Given the description of an element on the screen output the (x, y) to click on. 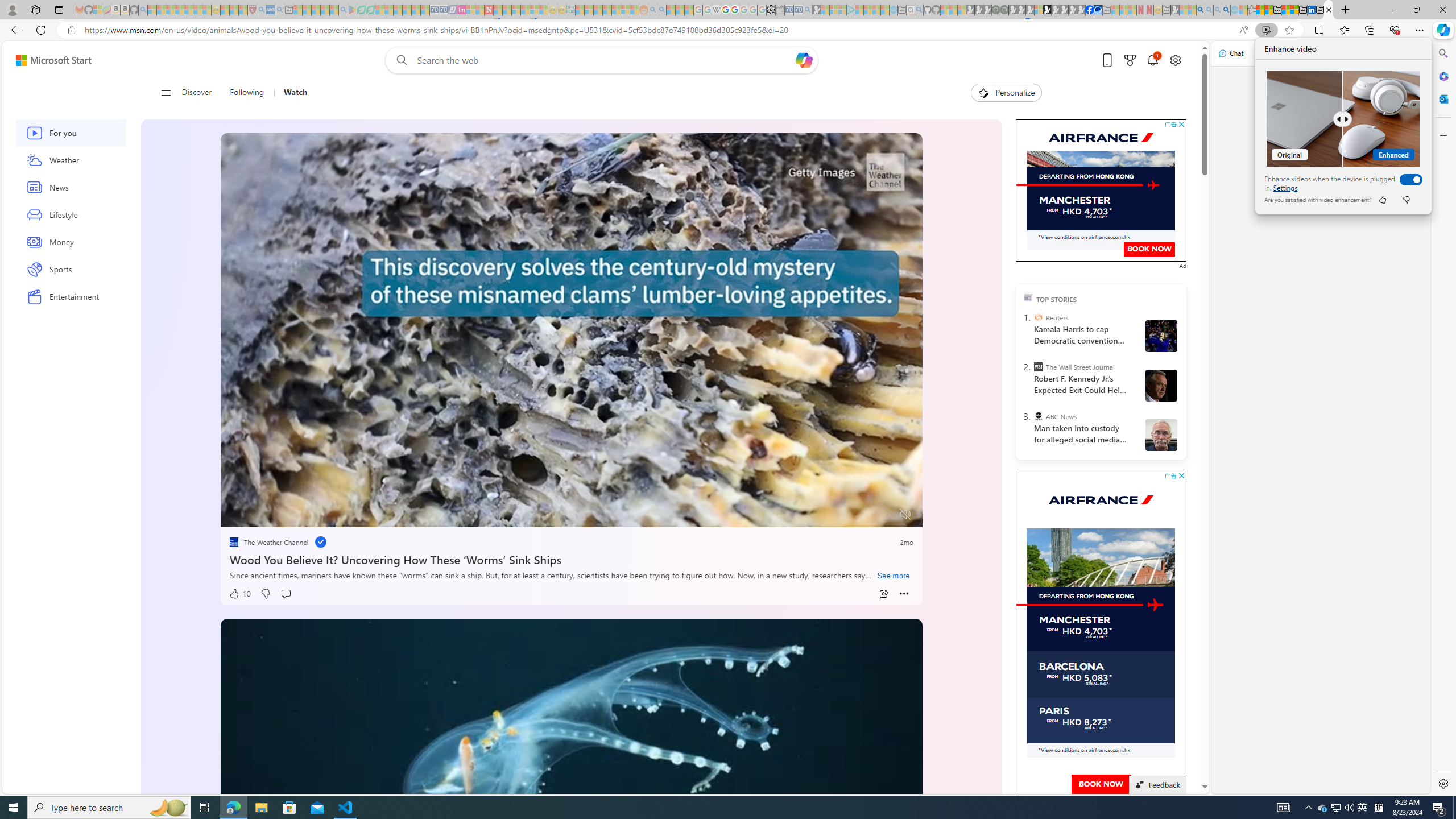
Wallet - Sleeping (779, 9)
DITOGAMES AG Imprint - Sleeping (570, 9)
Trusted Community Engagement and Contributions | Guidelines (497, 9)
like (1382, 199)
Cheap Car Rentals - Save70.com - Sleeping (798, 9)
Recipes - MSN - Sleeping (224, 9)
Start the conversation (286, 593)
Bing Real Estate - Home sales and rental listings - Sleeping (806, 9)
